Given the description of an element on the screen output the (x, y) to click on. 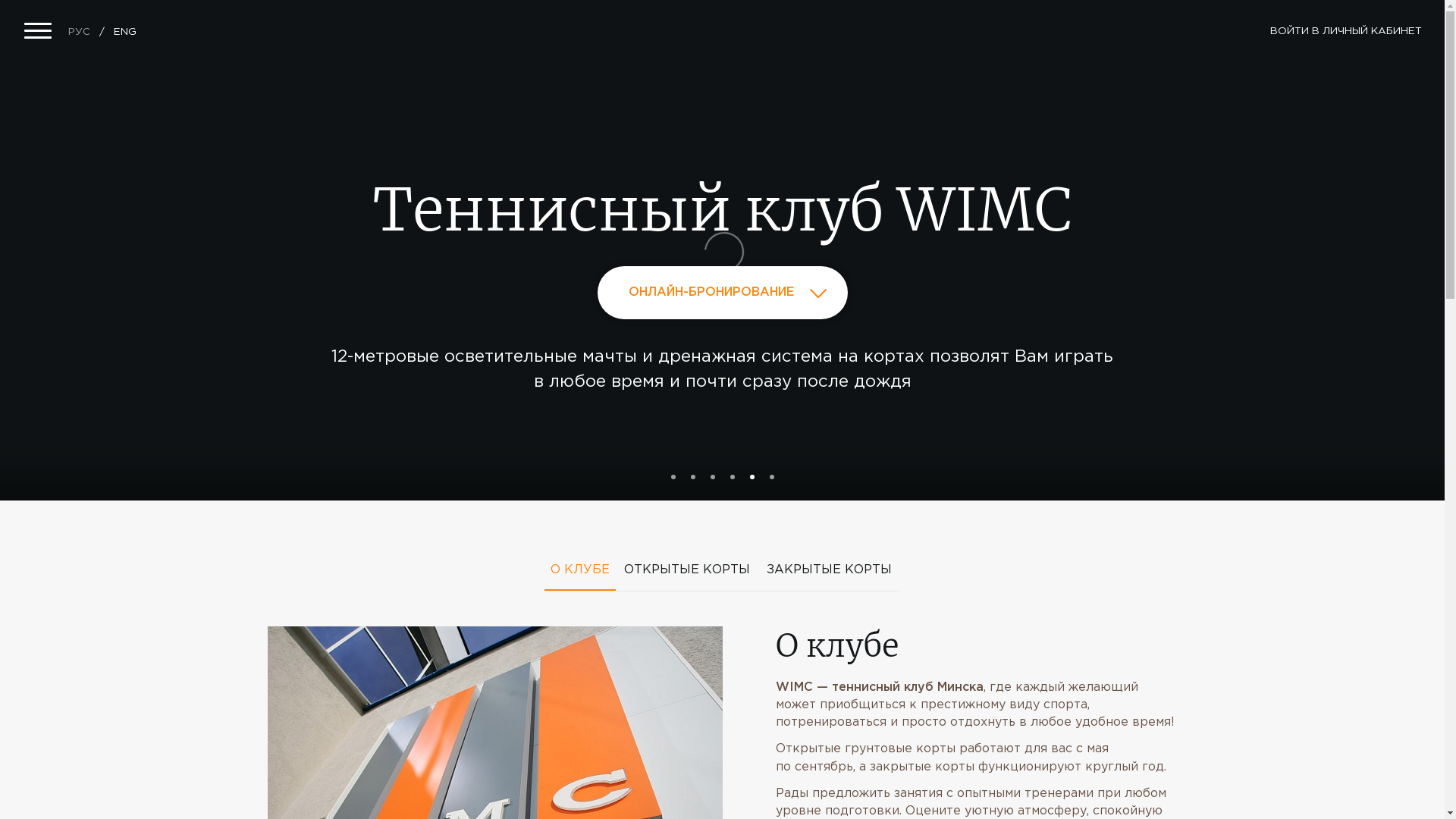
2 Element type: text (692, 476)
Prev Element type: text (166, 257)
ENG Element type: text (124, 31)
6 Element type: text (770, 476)
1 Element type: text (672, 476)
3 Element type: text (711, 476)
Next Element type: text (1276, 257)
  Element type: text (268, 505)
5 Element type: text (751, 476)
4 Element type: text (731, 476)
